Given the description of an element on the screen output the (x, y) to click on. 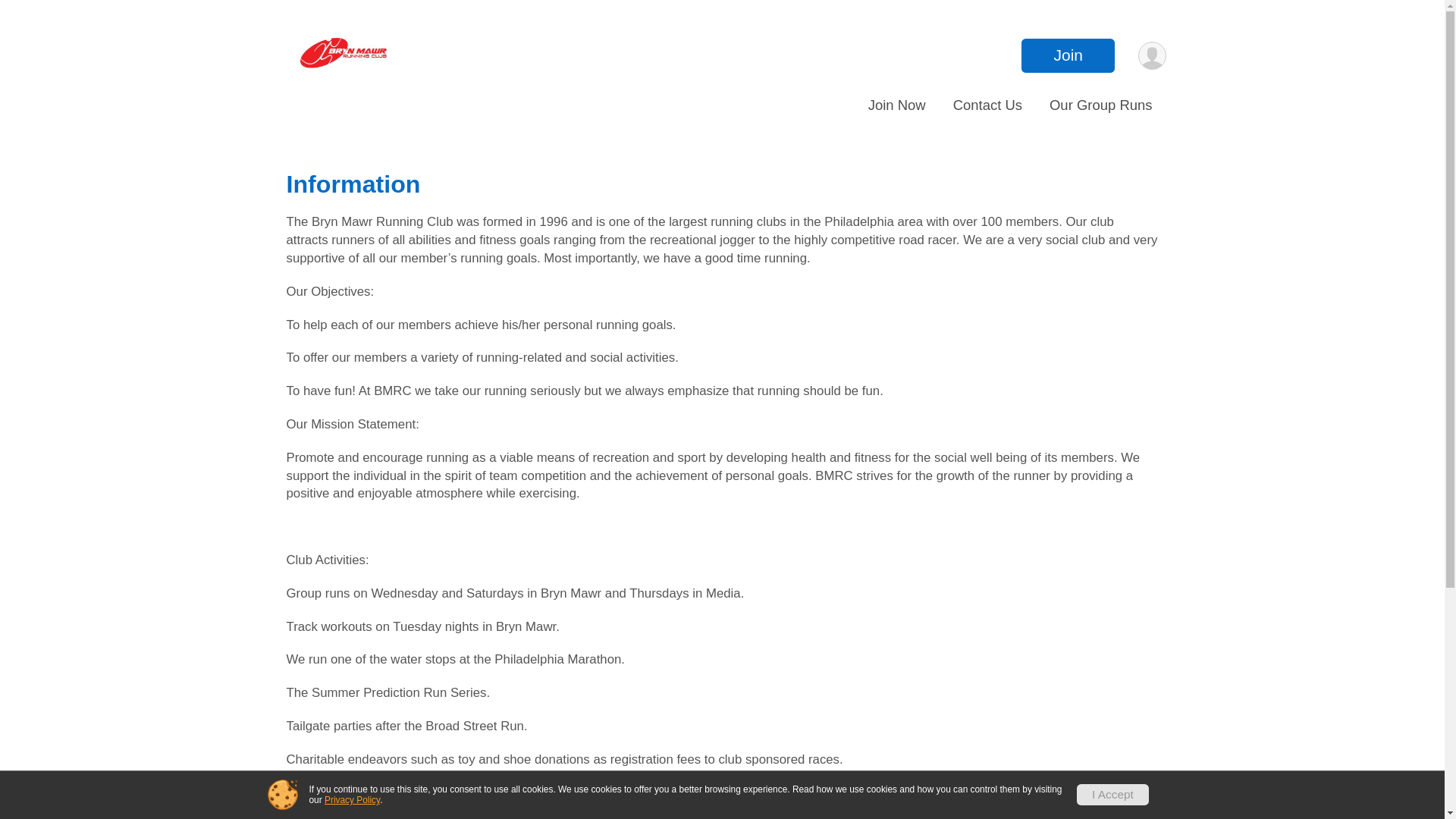
Join Now (897, 104)
Contact Us (987, 104)
Join (1068, 54)
I Accept (1112, 794)
Bryn Mawr Running Club (346, 54)
Privacy Policy (352, 799)
Our Group Runs (1100, 104)
